Given the description of an element on the screen output the (x, y) to click on. 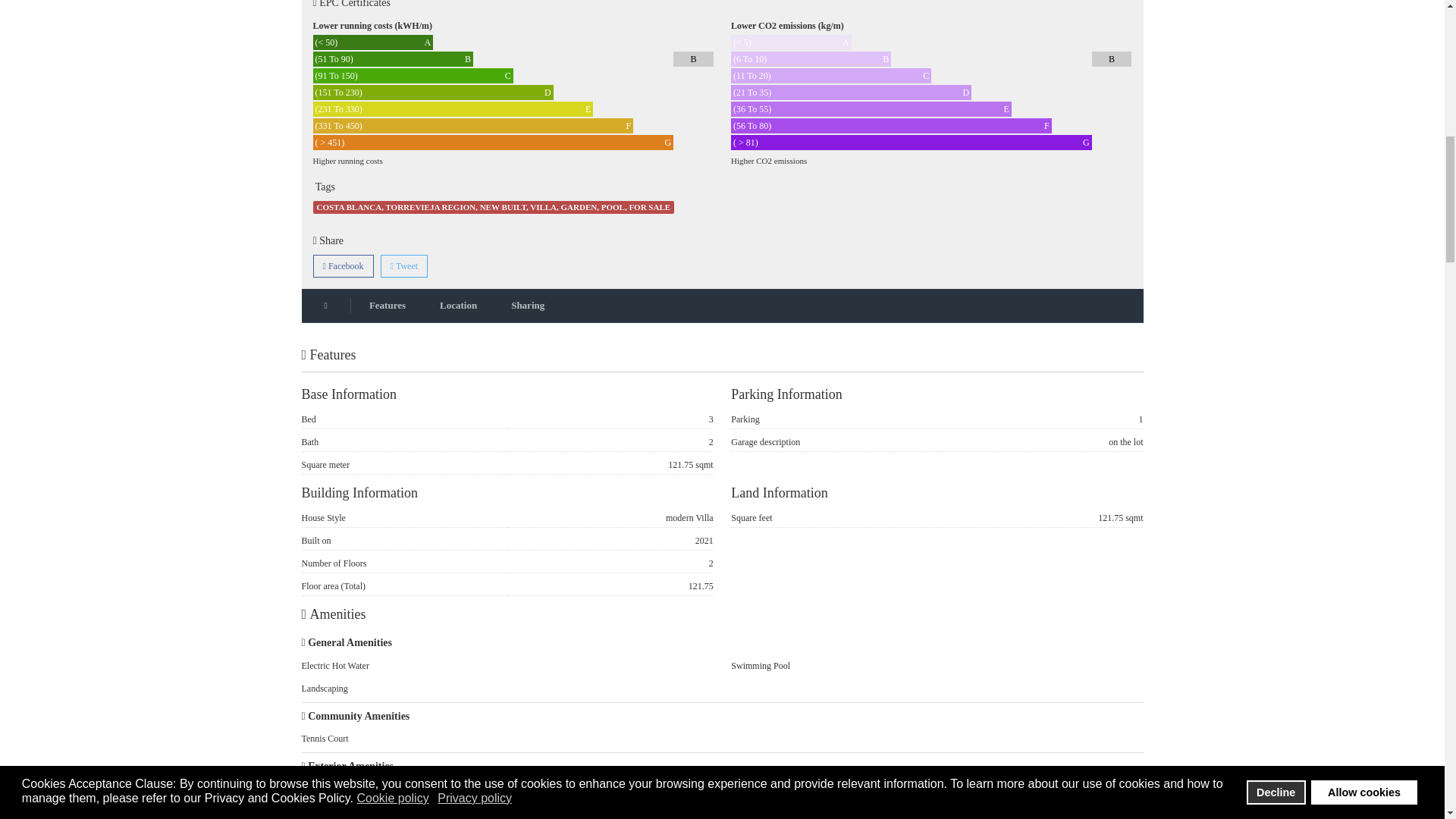
Ask your Facebook friends what they think about this home (342, 265)
Ask your Twitter friends what they think about this home (404, 265)
